Given the description of an element on the screen output the (x, y) to click on. 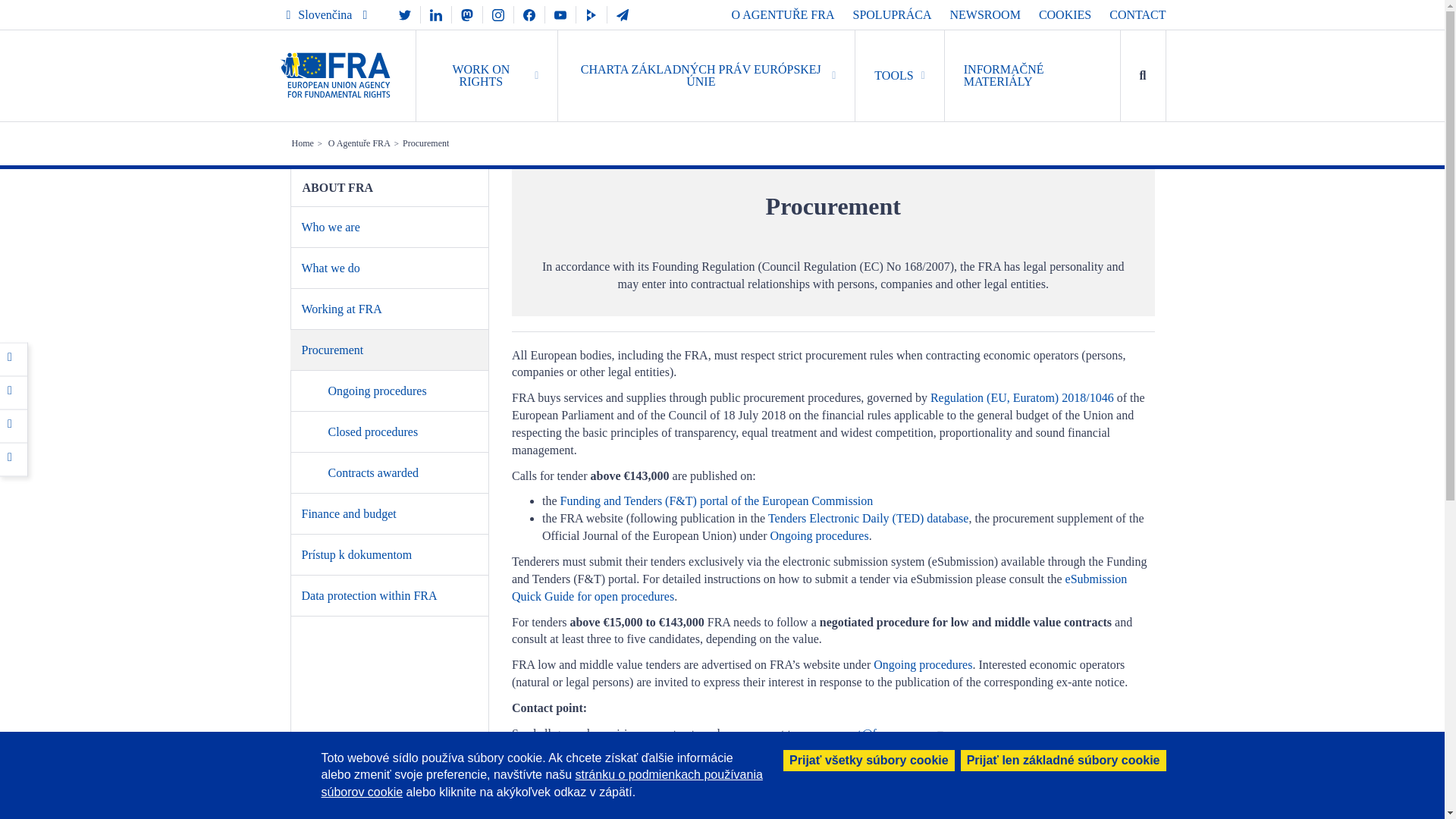
LinkedIn (13, 424)
COOKIES (1064, 14)
FRA's LinkedIn channel (435, 13)
LinkedIn (13, 424)
Twitter (13, 390)
Newsletter (622, 13)
YouTube (559, 13)
Facebook (13, 358)
Subscribe to FRA's newsletter (622, 13)
FRA's Mastodon channel (466, 13)
FRA's PeerTube channel (591, 13)
Facebook (528, 13)
FRA's Instagram channel (498, 13)
Twitter (13, 390)
